Given the description of an element on the screen output the (x, y) to click on. 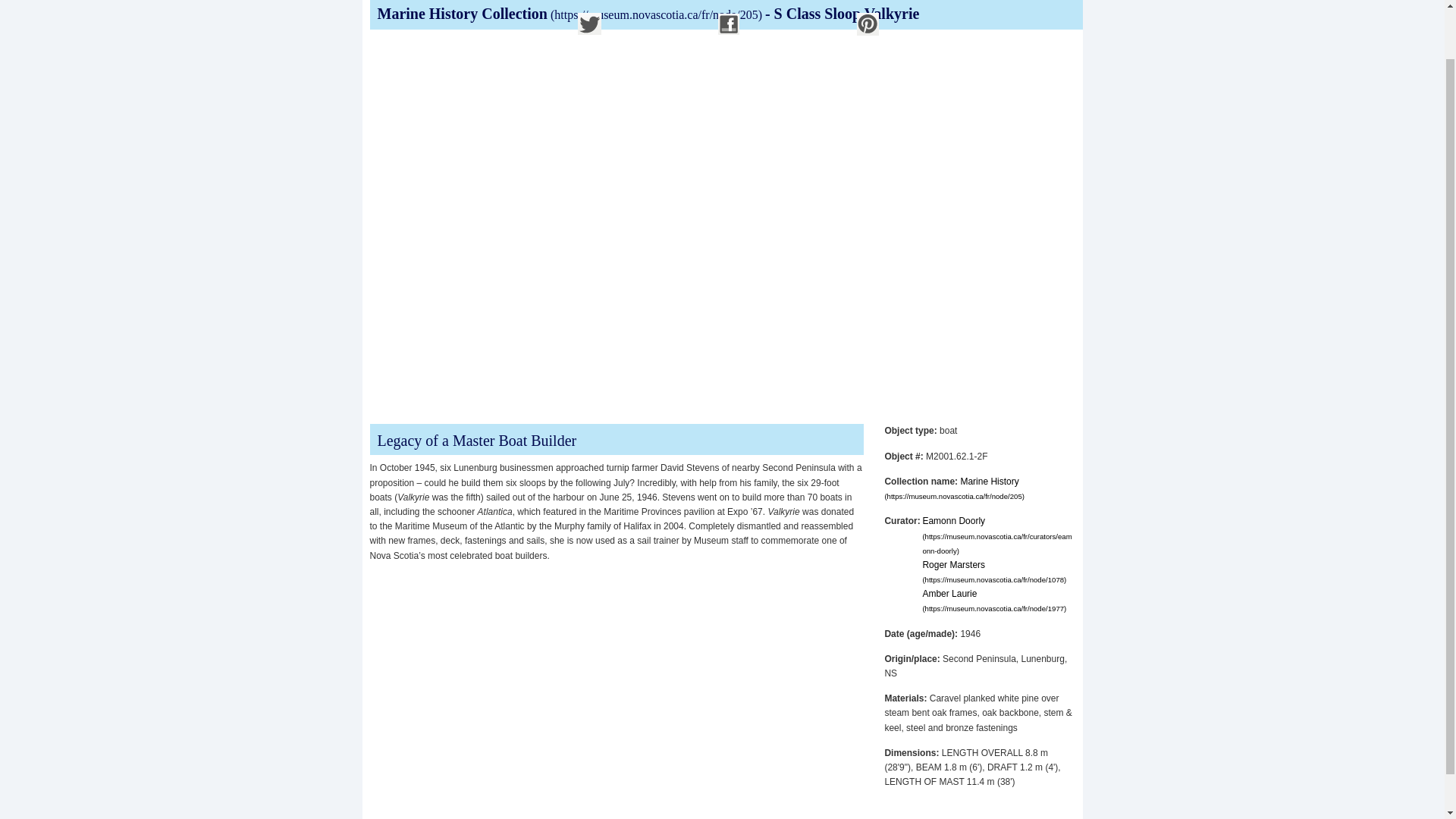
Facebook (728, 23)
Marine History (954, 488)
Twitter (589, 23)
Pinterest (867, 23)
Eamonn Doorly (996, 535)
Roger Marsters (993, 571)
Marine History Collection (571, 13)
Amber Laurie (993, 600)
